Given the description of an element on the screen output the (x, y) to click on. 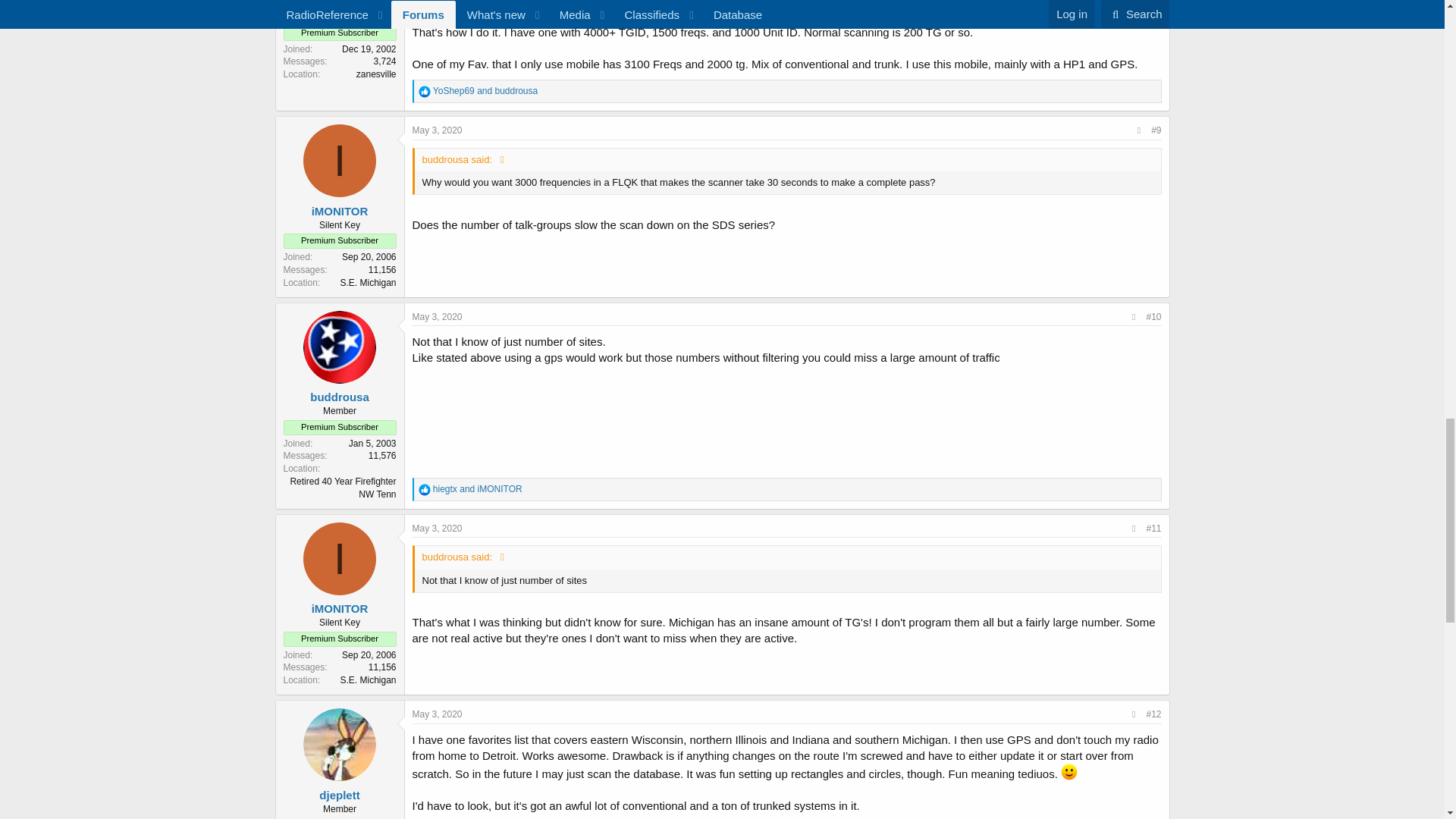
May 3, 2020 at 10:34 AM (437, 528)
Like (424, 490)
May 3, 2020 at 10:19 AM (437, 130)
Like (424, 91)
May 3, 2020 at 10:29 AM (437, 317)
